Given the description of an element on the screen output the (x, y) to click on. 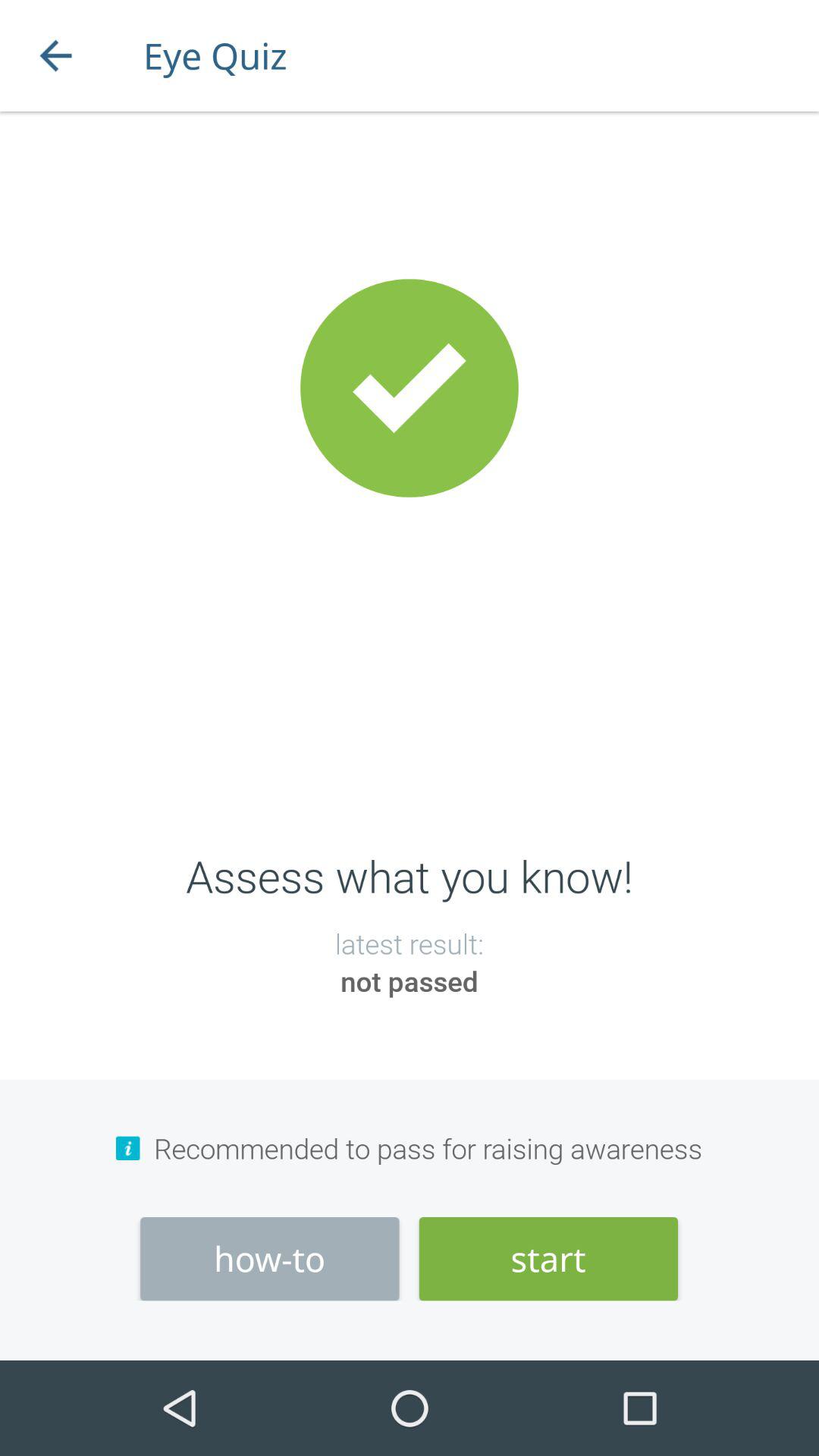
flip to start (548, 1258)
